Given the description of an element on the screen output the (x, y) to click on. 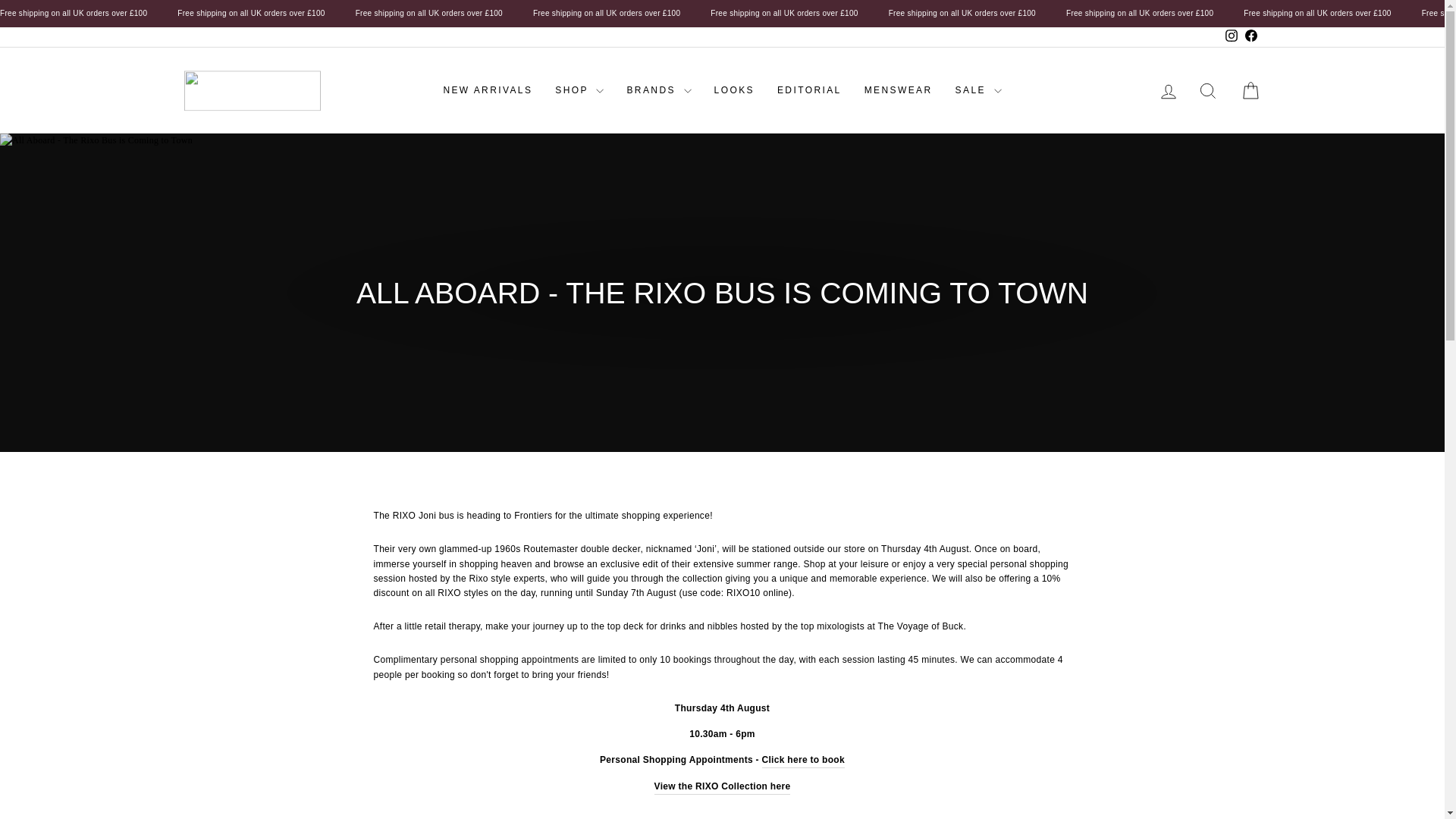
Frontiers Woman on Instagram (1230, 36)
RIXO Collection (721, 786)
instagram (1231, 35)
ACCOUNT (1168, 91)
Click here to book tickets (802, 760)
Frontiers Woman on Facebook (1250, 36)
ICON-SEARCH (1207, 90)
